Given the description of an element on the screen output the (x, y) to click on. 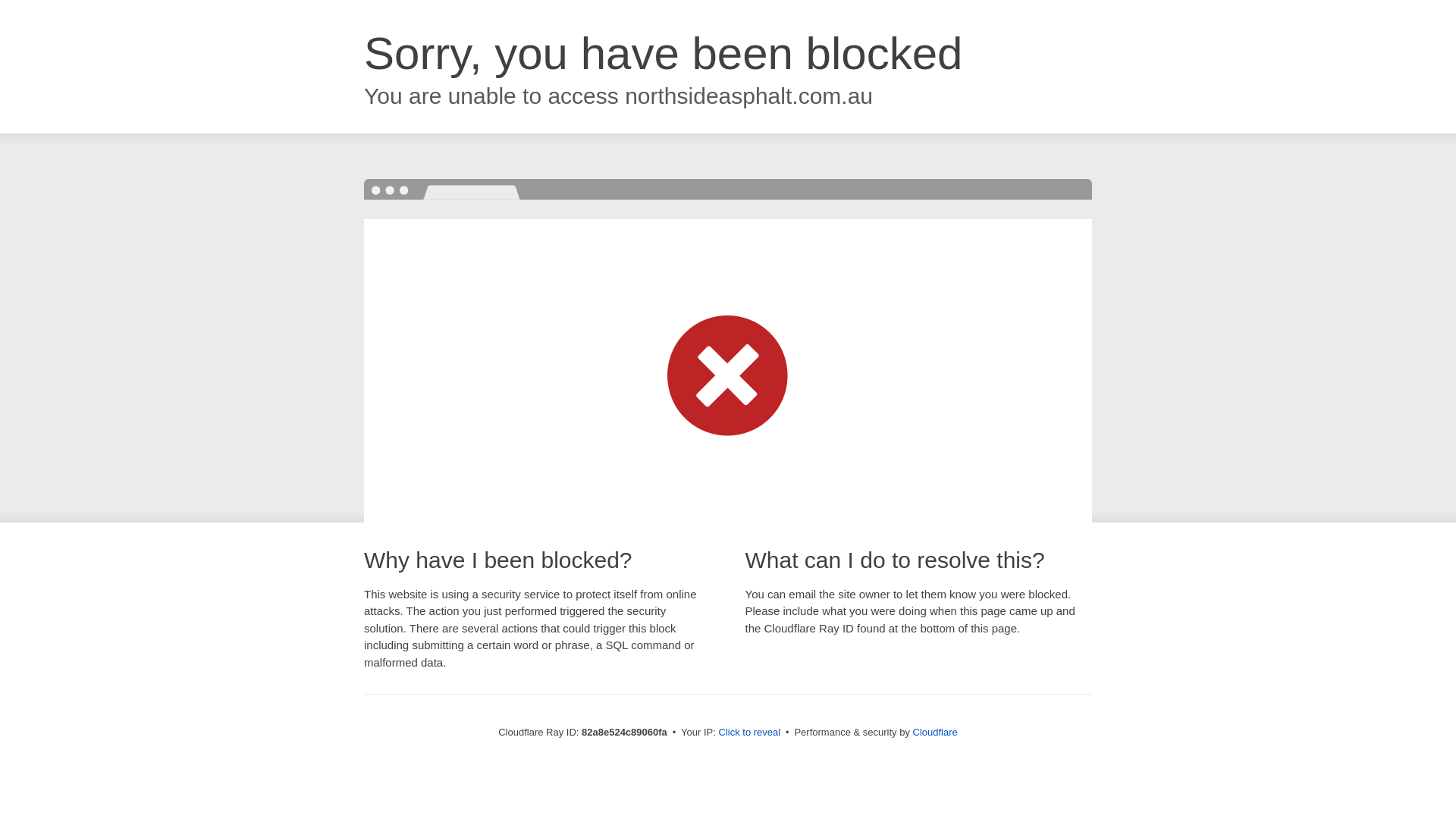
Click to reveal Element type: text (749, 732)
Cloudflare Element type: text (935, 731)
